Given the description of an element on the screen output the (x, y) to click on. 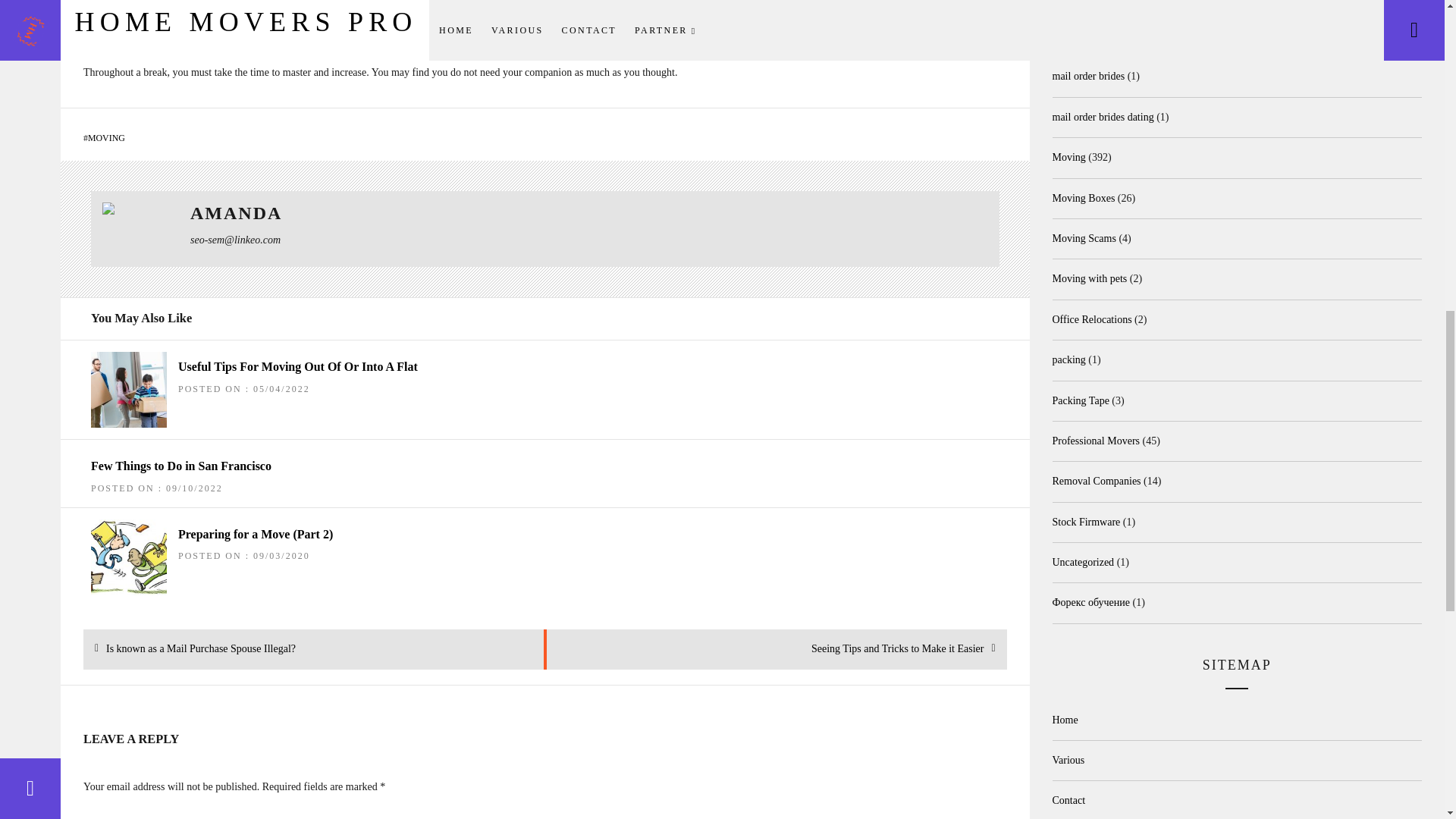
Few Things to Do in San Francisco (200, 648)
Useful Tips For Moving Out Of Or Into A Flat (180, 465)
MOVING (297, 366)
